Given the description of an element on the screen output the (x, y) to click on. 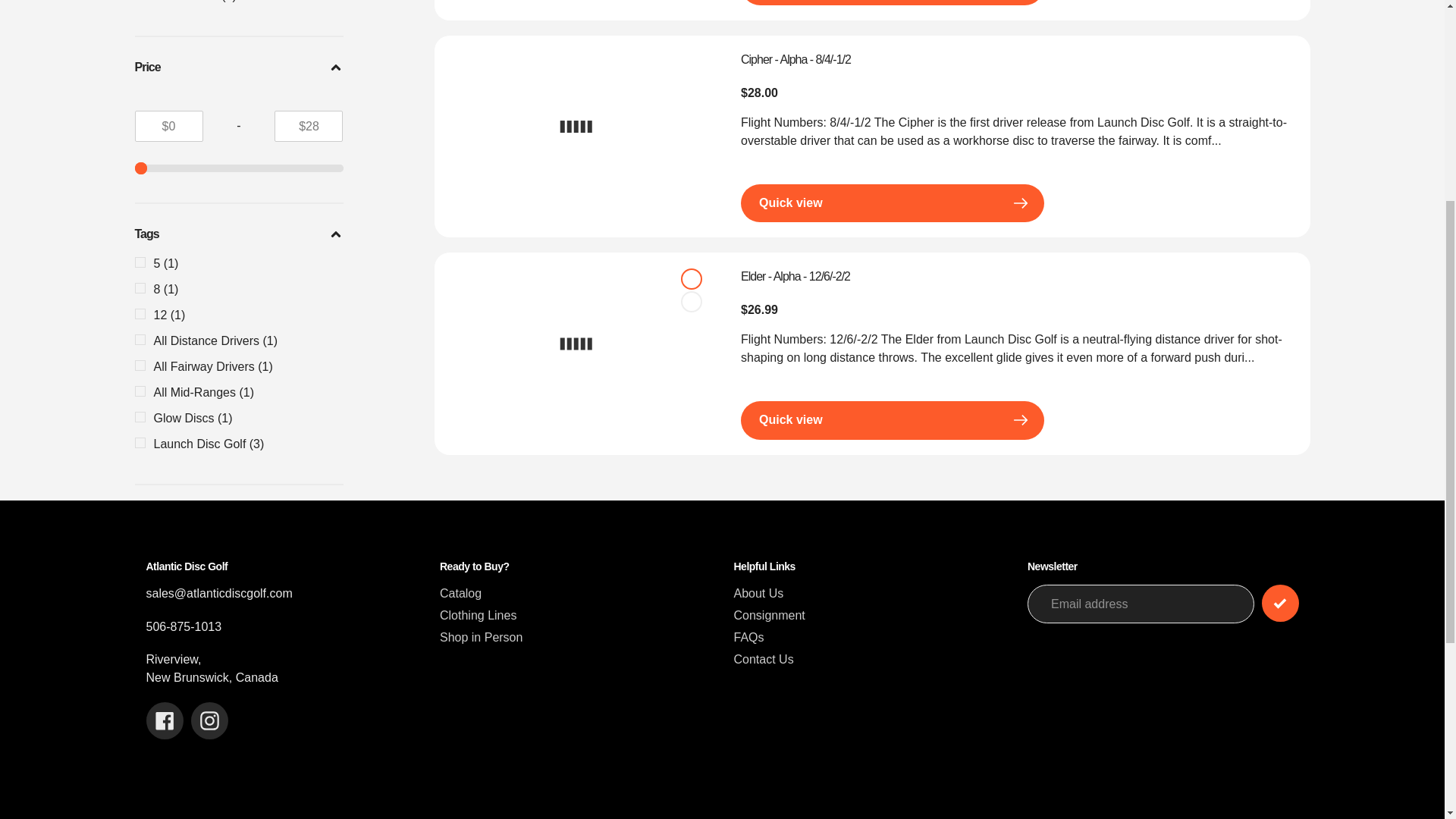
Pink (691, 278)
0 (239, 167)
Red (691, 301)
0 (239, 167)
